Given the description of an element on the screen output the (x, y) to click on. 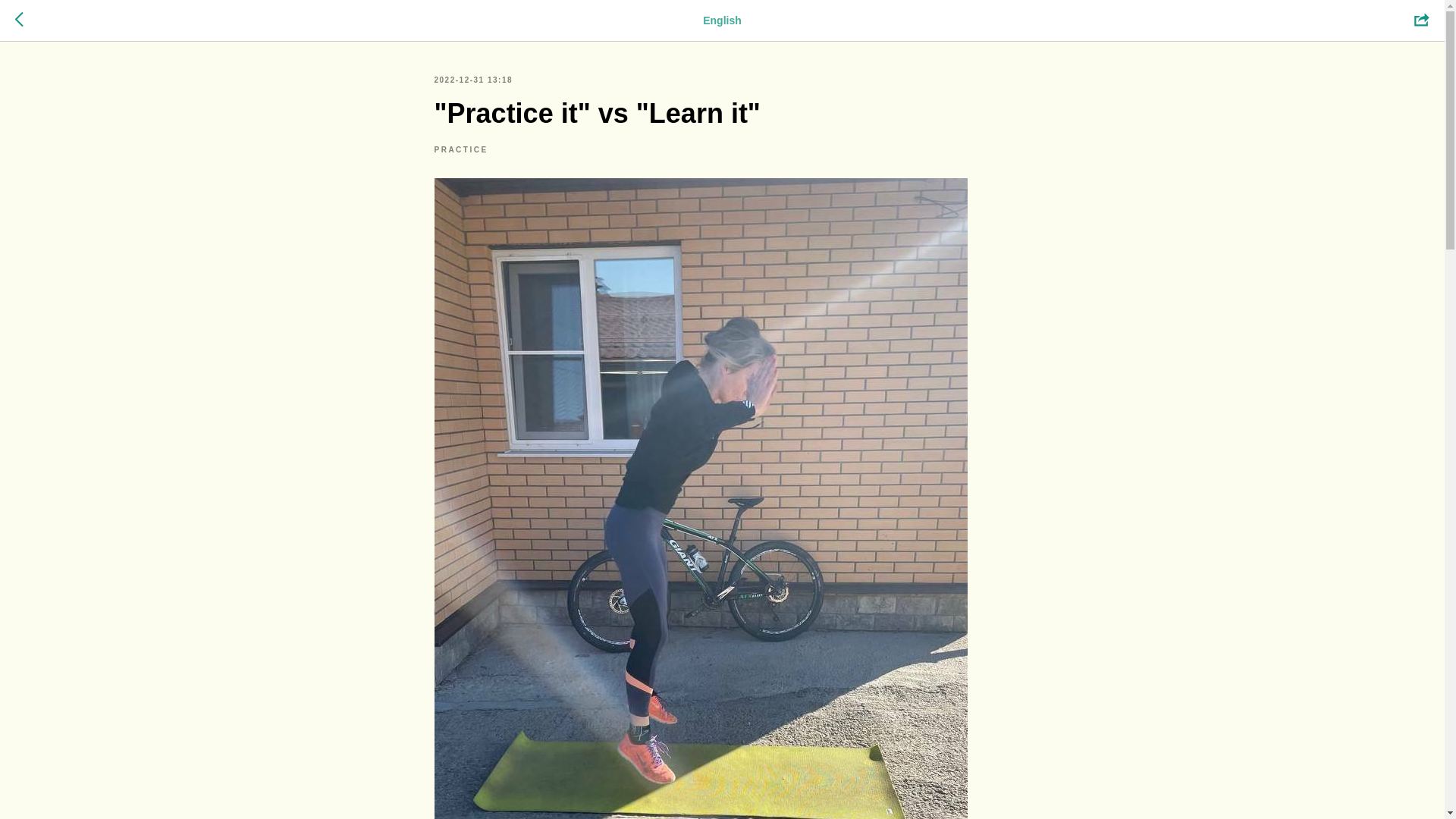
PRACTICE (460, 148)
